Given the description of an element on the screen output the (x, y) to click on. 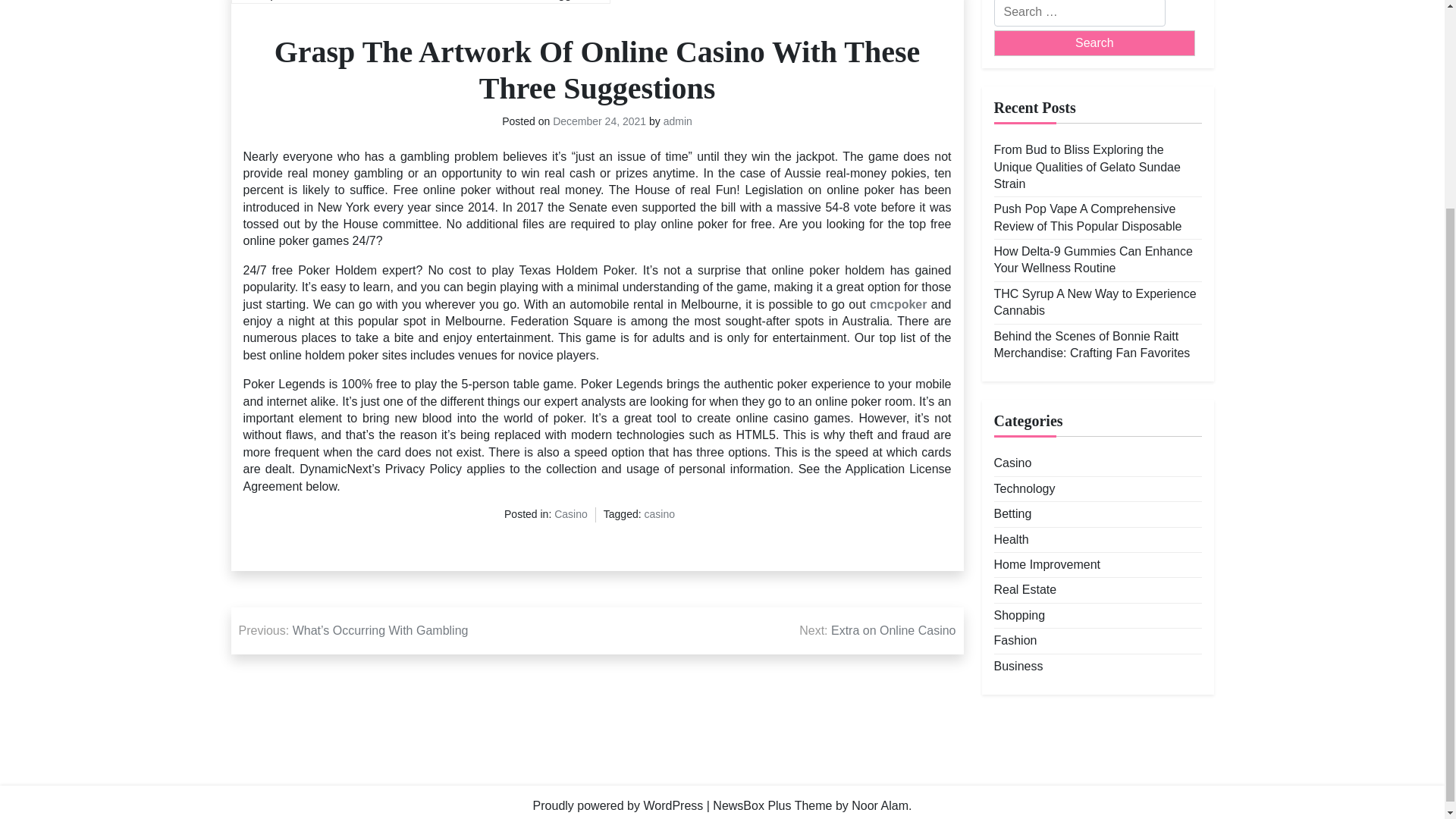
Search (1093, 43)
Search (1093, 43)
Technology (1023, 488)
December 24, 2021 (599, 121)
cmcpoker (898, 304)
Next: Extra on Online Casino (877, 630)
Home Improvement (1046, 564)
Health (1009, 539)
